Given the description of an element on the screen output the (x, y) to click on. 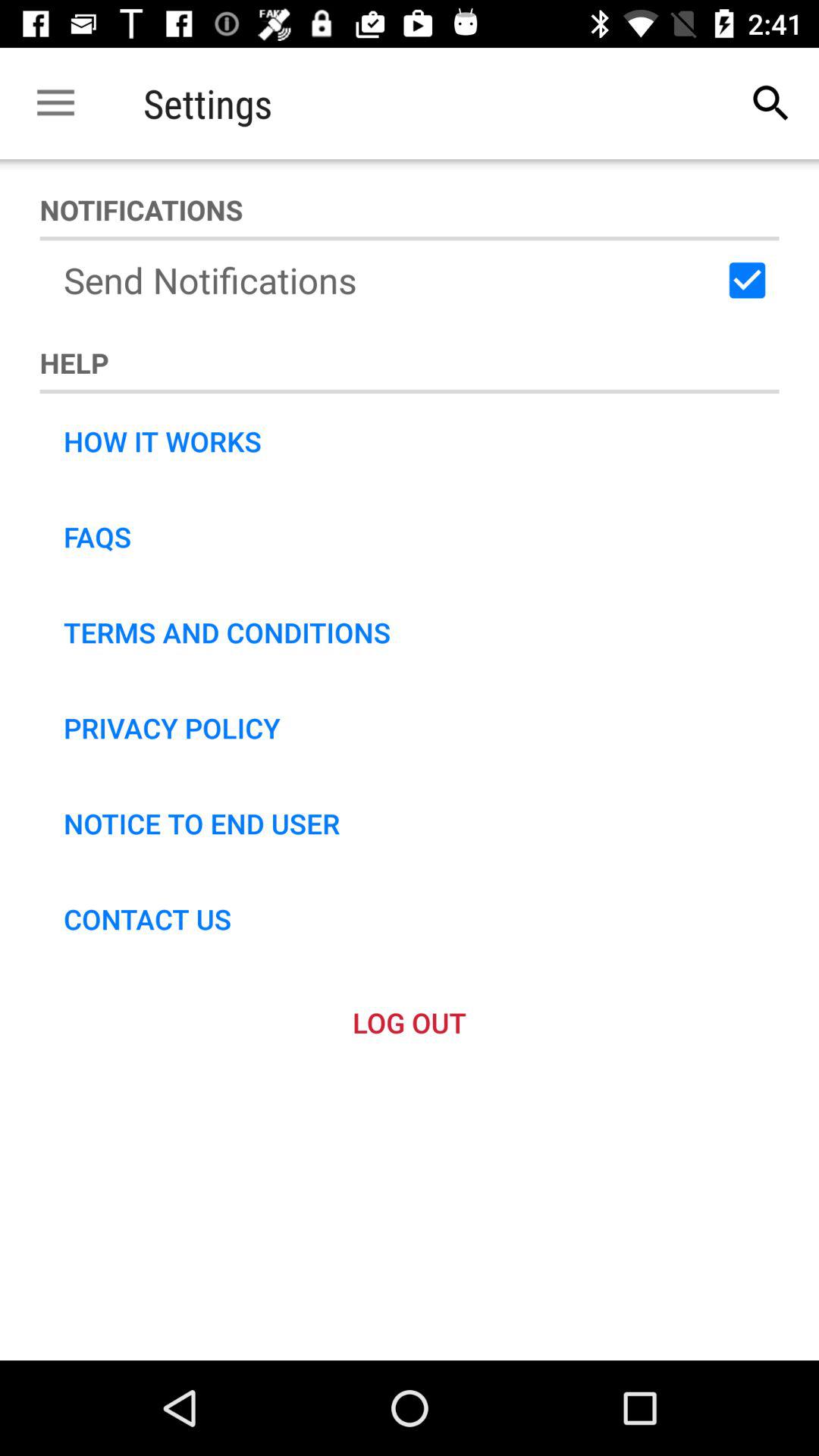
open icon above the log out icon (147, 918)
